Given the description of an element on the screen output the (x, y) to click on. 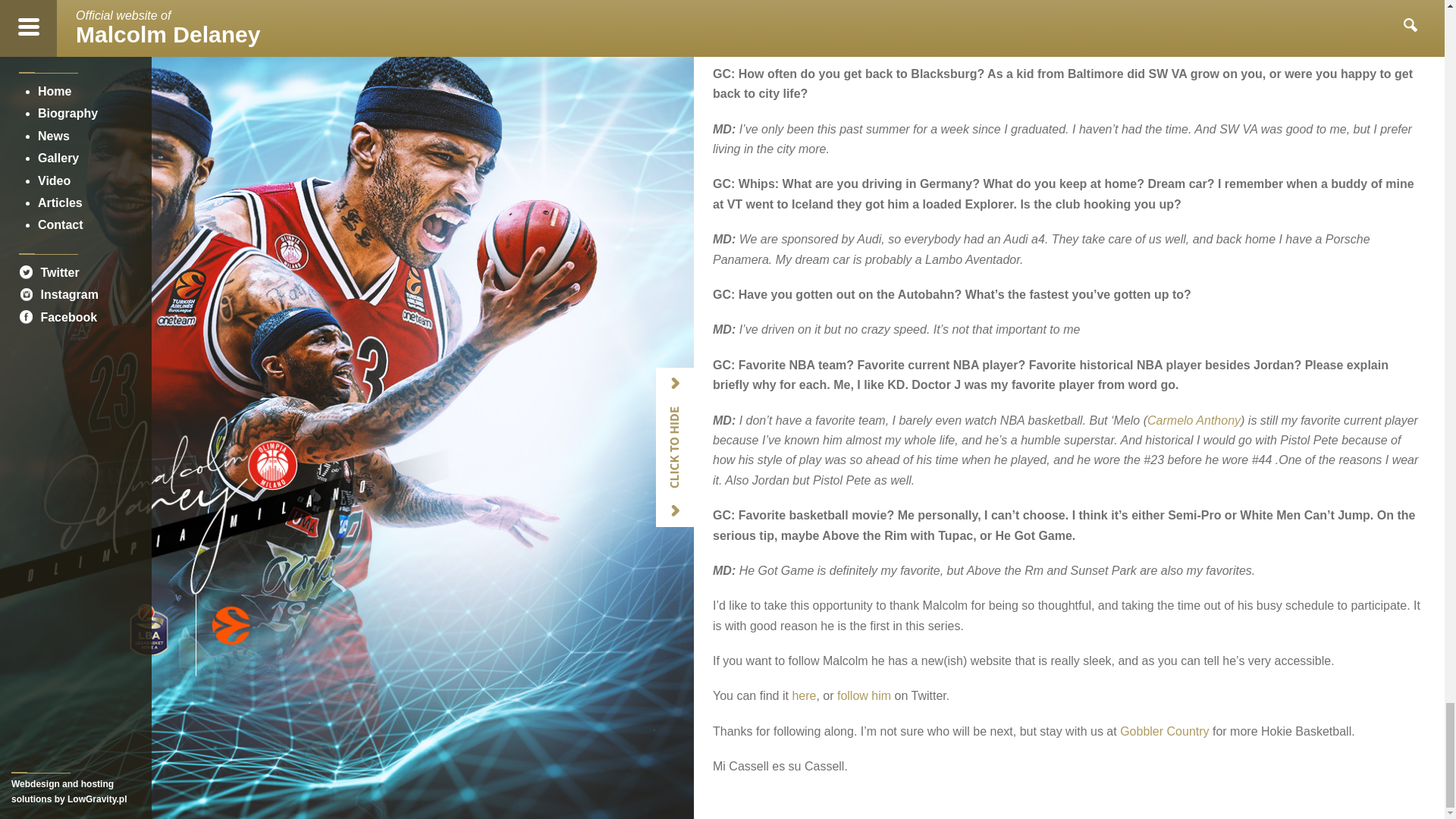
Carmelo Anthony (1193, 420)
here (803, 695)
Gobbler Country (1163, 730)
follow him (864, 695)
